Given the description of an element on the screen output the (x, y) to click on. 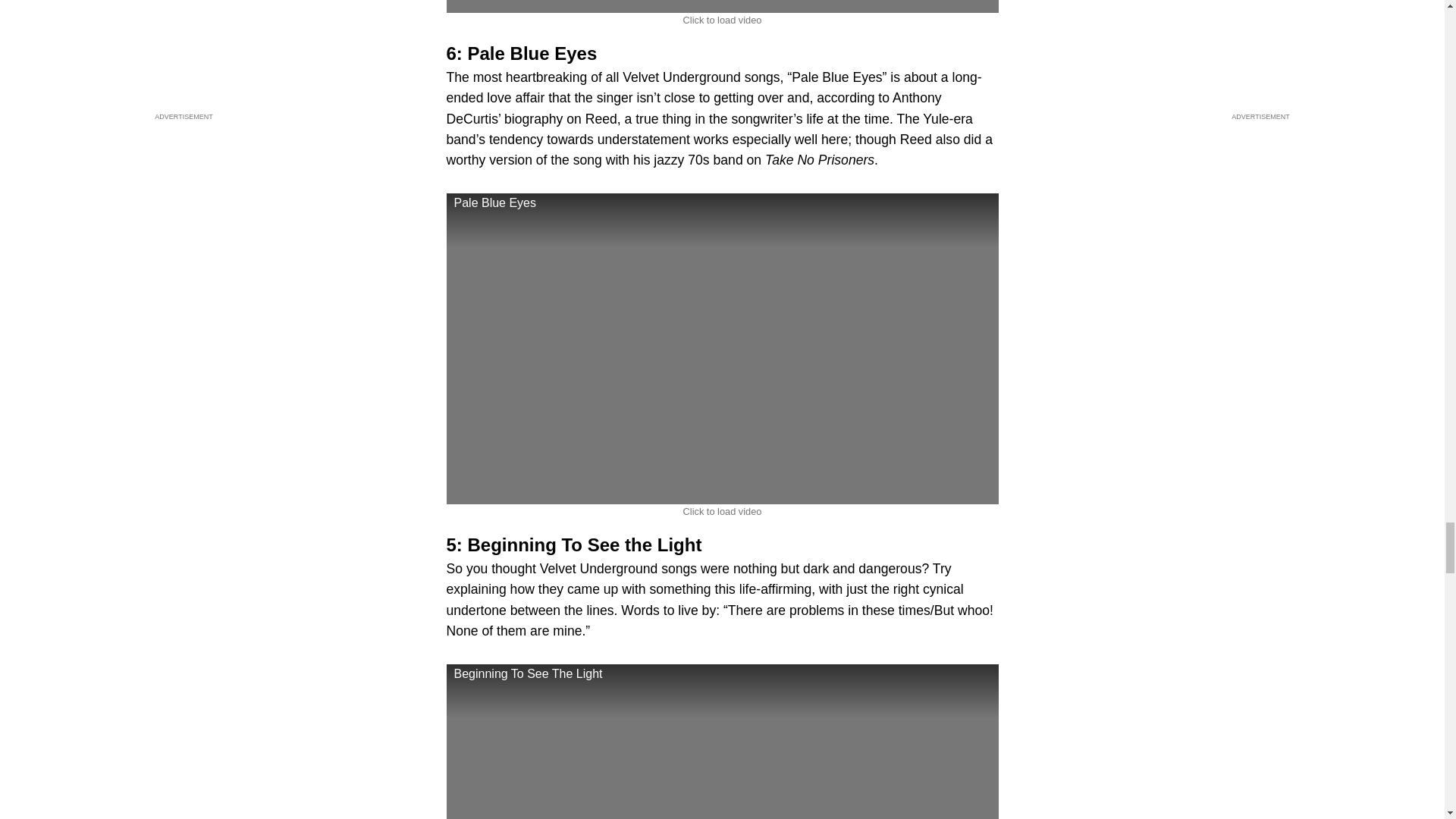
Venus In Furs (721, 6)
